Given the description of an element on the screen output the (x, y) to click on. 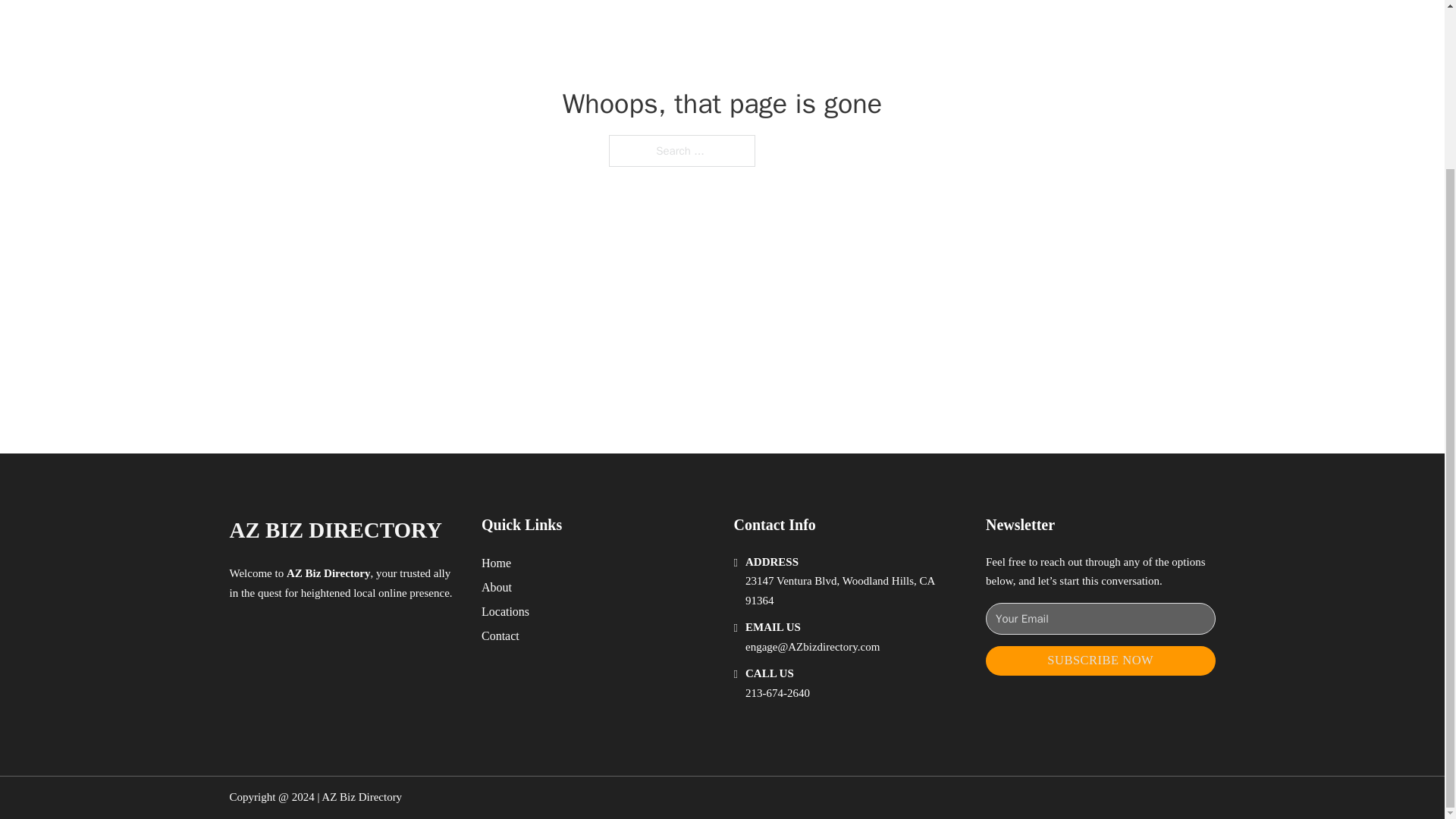
SUBSCRIBE NOW (1100, 660)
Locations (505, 611)
AZ BIZ DIRECTORY (334, 529)
About (496, 587)
Contact (500, 635)
Home (496, 562)
213-674-2640 (777, 693)
